Given the description of an element on the screen output the (x, y) to click on. 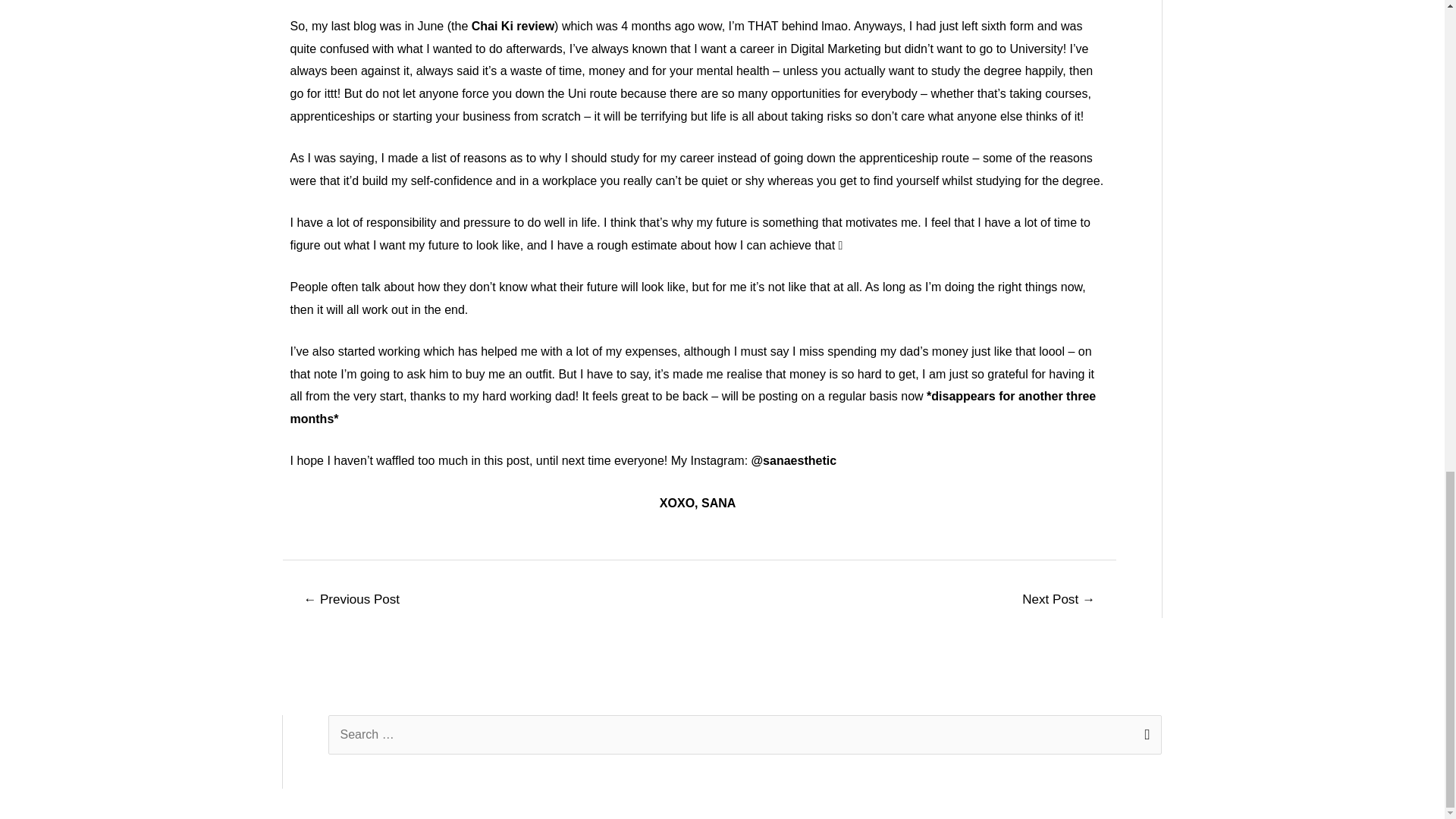
Chai Ki review (512, 25)
